Given the description of an element on the screen output the (x, y) to click on. 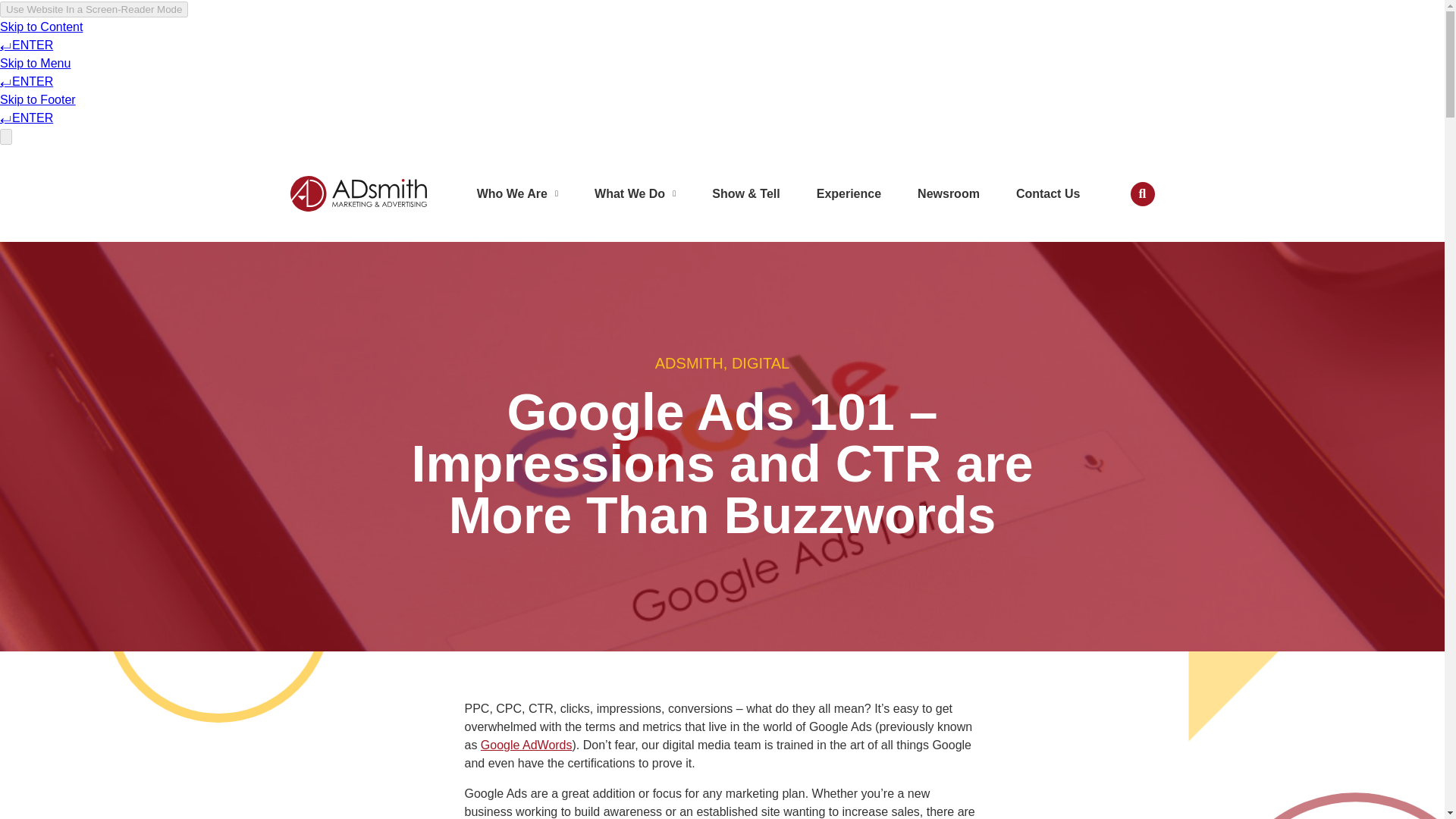
ADSMITH (689, 362)
Google AdWords (526, 744)
Newsroom (948, 193)
Who We Are (517, 193)
Experience (849, 193)
Contact Us (1047, 193)
What We Do (634, 193)
DIGITAL (760, 362)
